Given the description of an element on the screen output the (x, y) to click on. 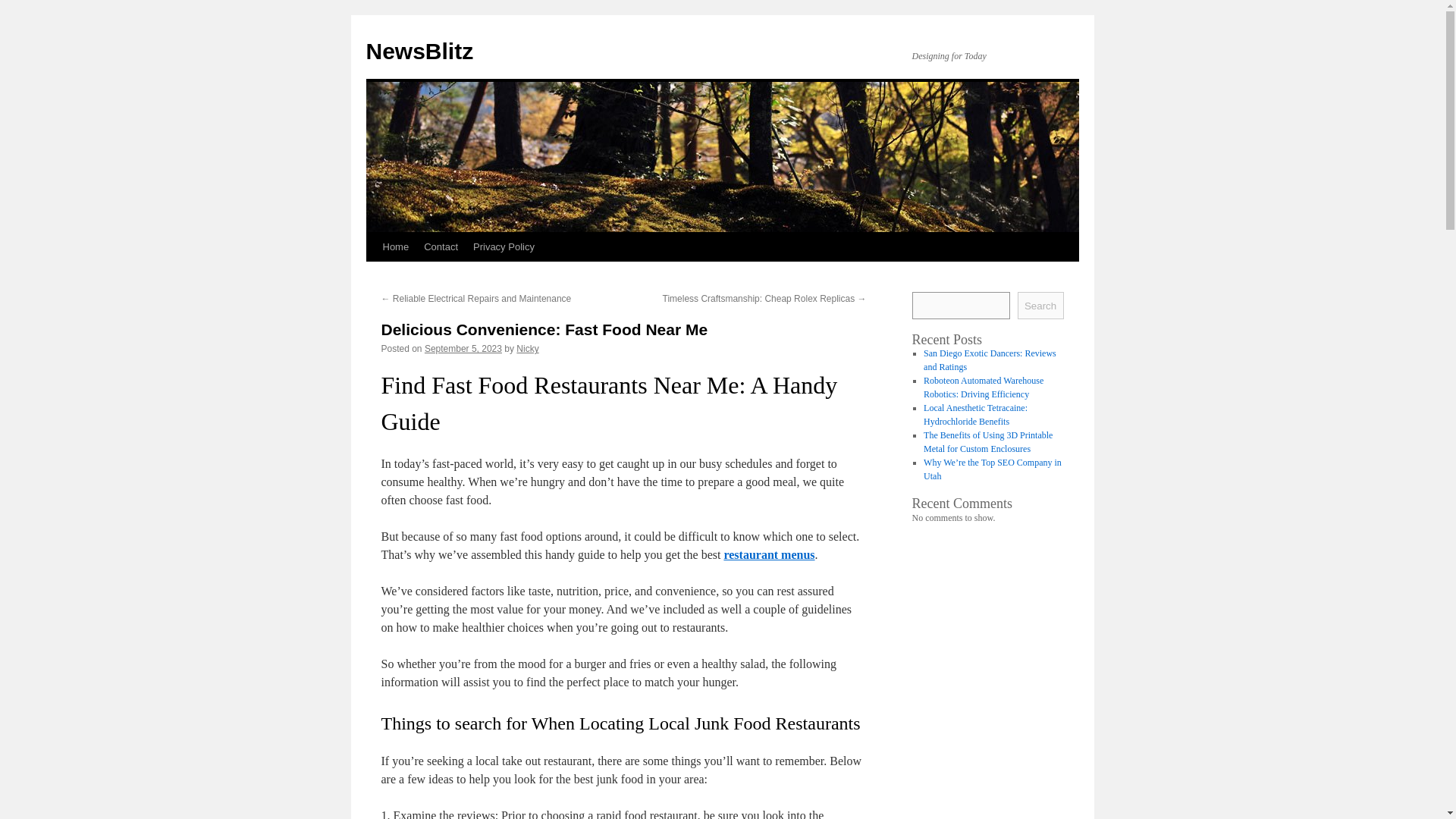
Privacy Policy (503, 246)
San Diego Exotic Dancers: Reviews and Ratings (990, 360)
NewsBlitz (419, 50)
Local Anesthetic Tetracaine: Hydrochloride Benefits (975, 414)
5:47 pm (463, 348)
View all posts by Nicky (527, 348)
Skip to content (372, 274)
Contact (440, 246)
Home (395, 246)
Search (1040, 305)
restaurant menus (768, 554)
Nicky (527, 348)
Roboteon Automated Warehouse Robotics: Driving Efficiency (983, 387)
September 5, 2023 (463, 348)
